Given the description of an element on the screen output the (x, y) to click on. 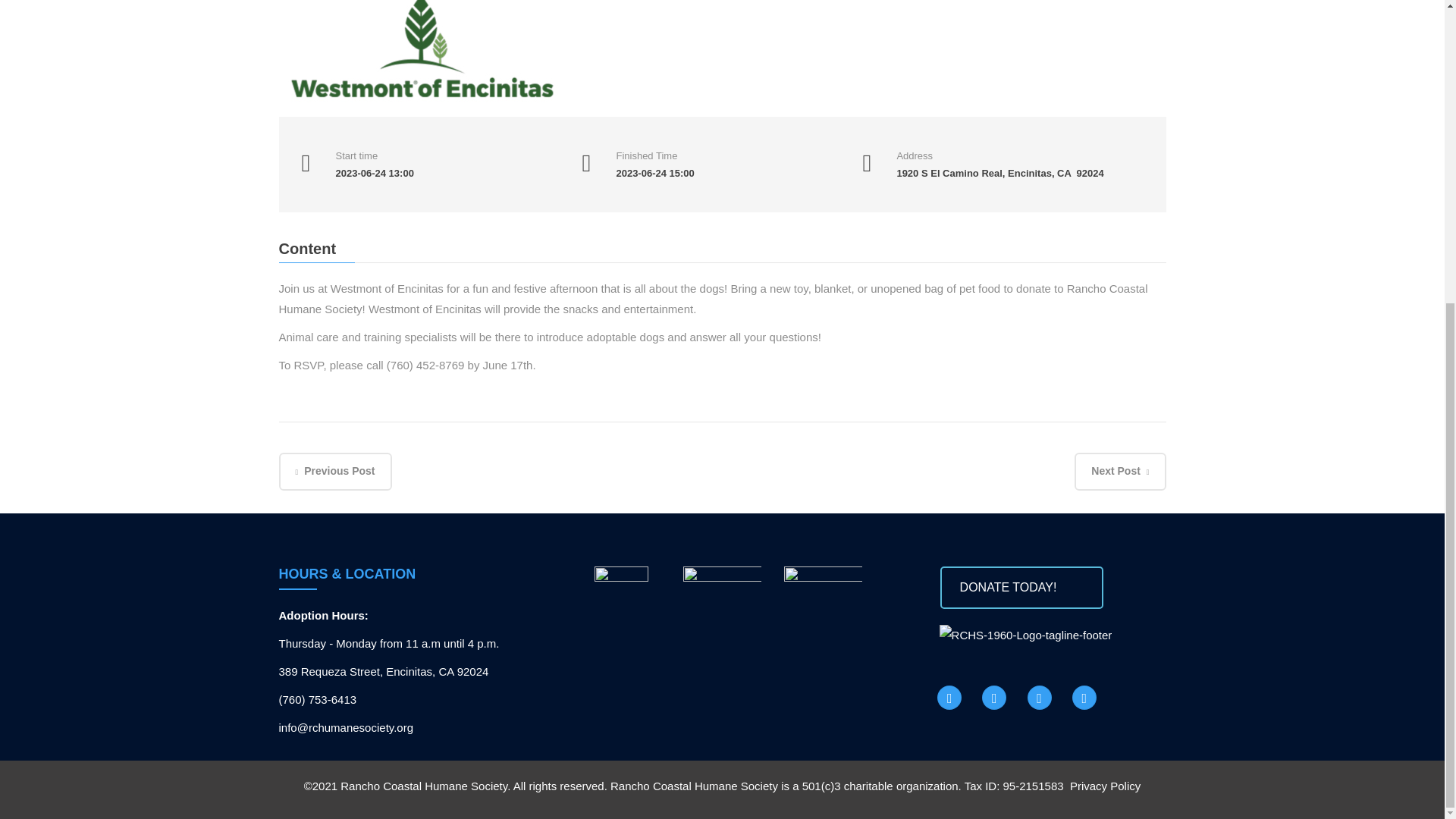
candid-seal-platinum-2023 (822, 605)
proud member-charity navigator (721, 605)
RCHS-1960-Logo-tagline-footer (1025, 634)
